Given the description of an element on the screen output the (x, y) to click on. 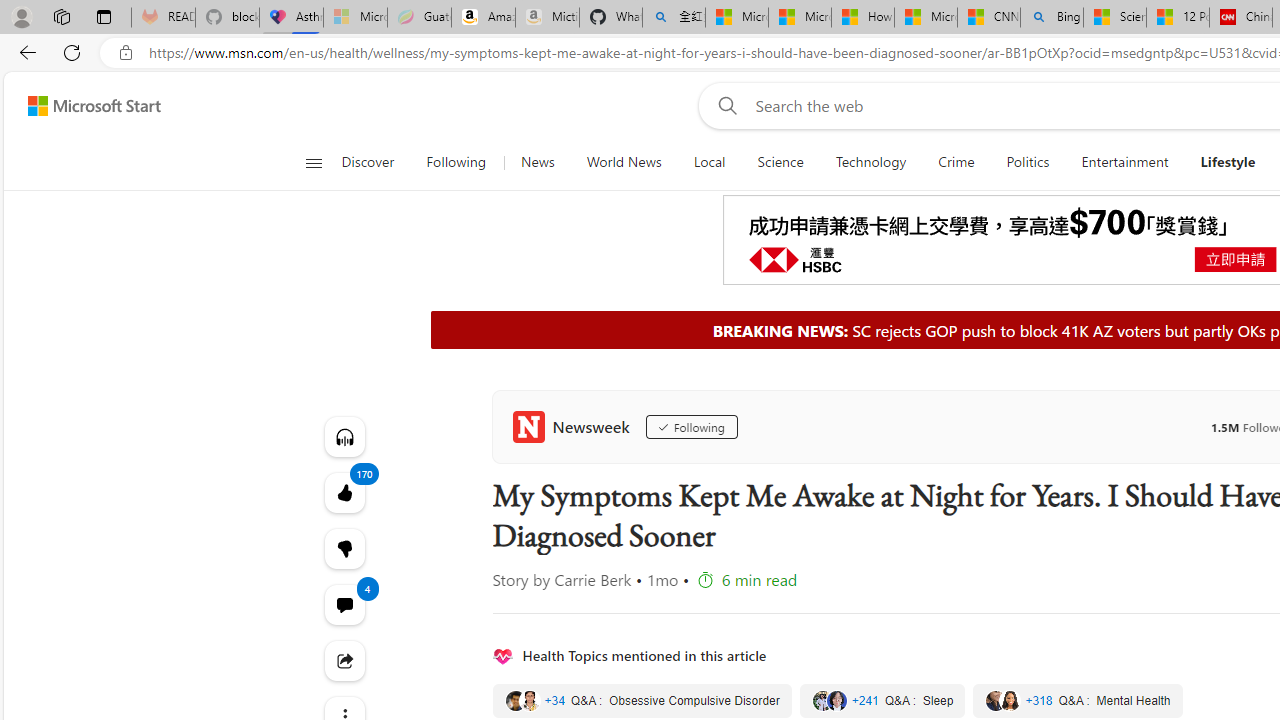
Class: quote-thumbnail (1009, 700)
Share this story (343, 660)
170 Like (343, 492)
View comments 4 Comment (343, 604)
Mental Health (1077, 700)
